Given the description of an element on the screen output the (x, y) to click on. 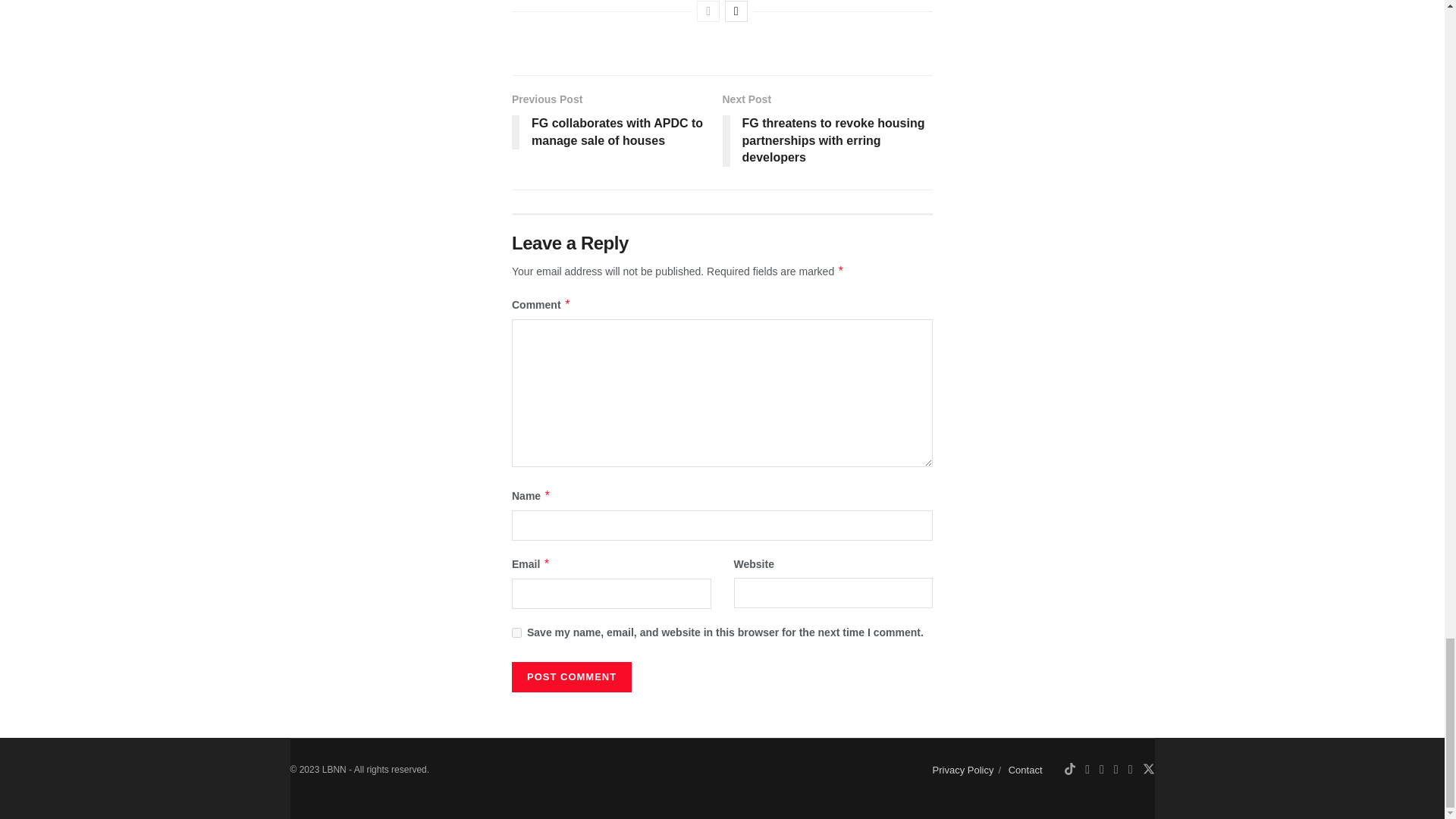
Next (736, 11)
Previous (708, 11)
Post Comment (571, 676)
yes (516, 633)
